Given the description of an element on the screen output the (x, y) to click on. 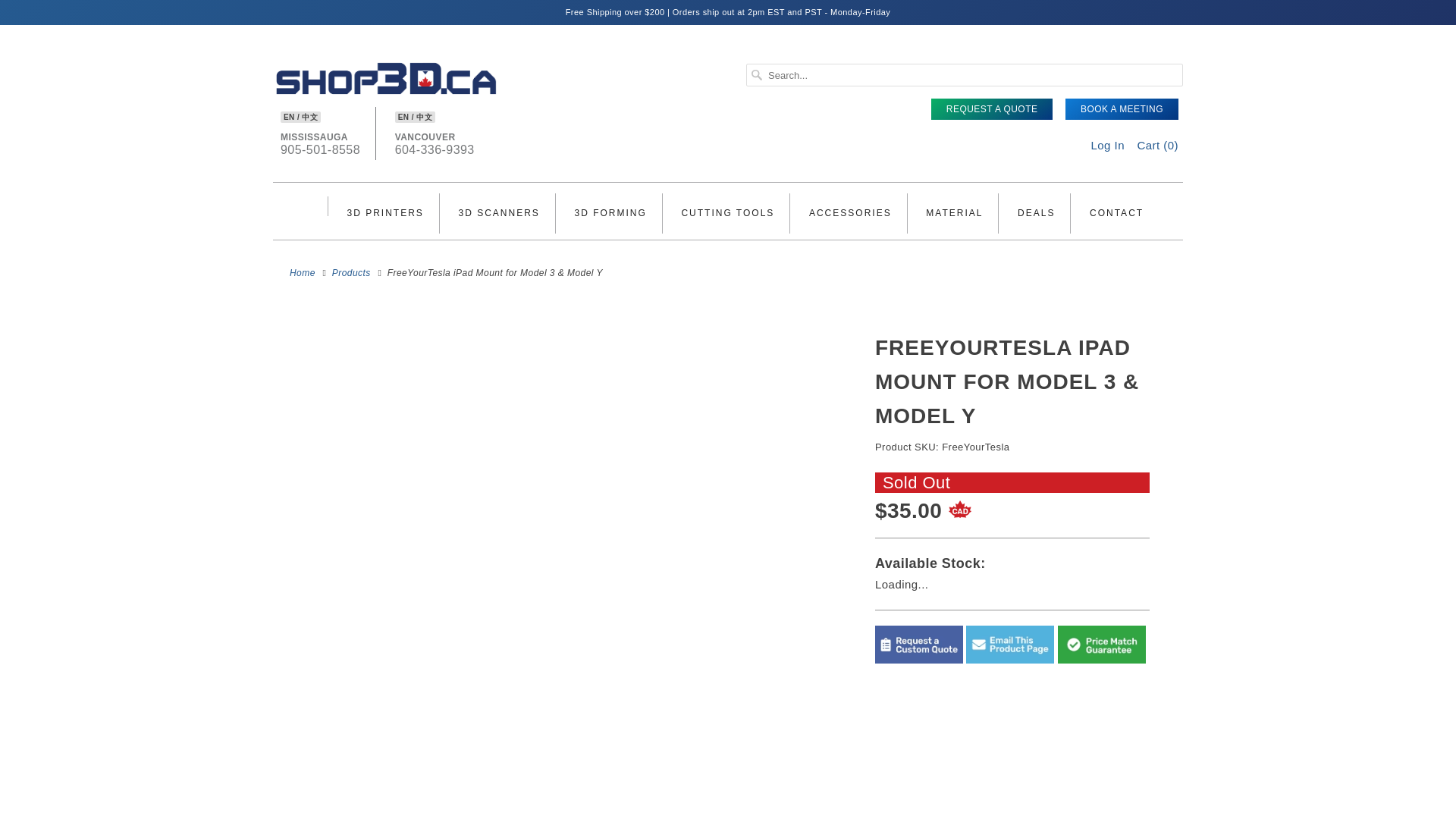
Shop3D.ca (386, 107)
Products (434, 153)
REQUEST A QUOTE (320, 153)
Shop3D.ca (351, 272)
3D PRINTERS (991, 108)
Log In (302, 272)
BOOK A MEETING (384, 213)
